Given the description of an element on the screen output the (x, y) to click on. 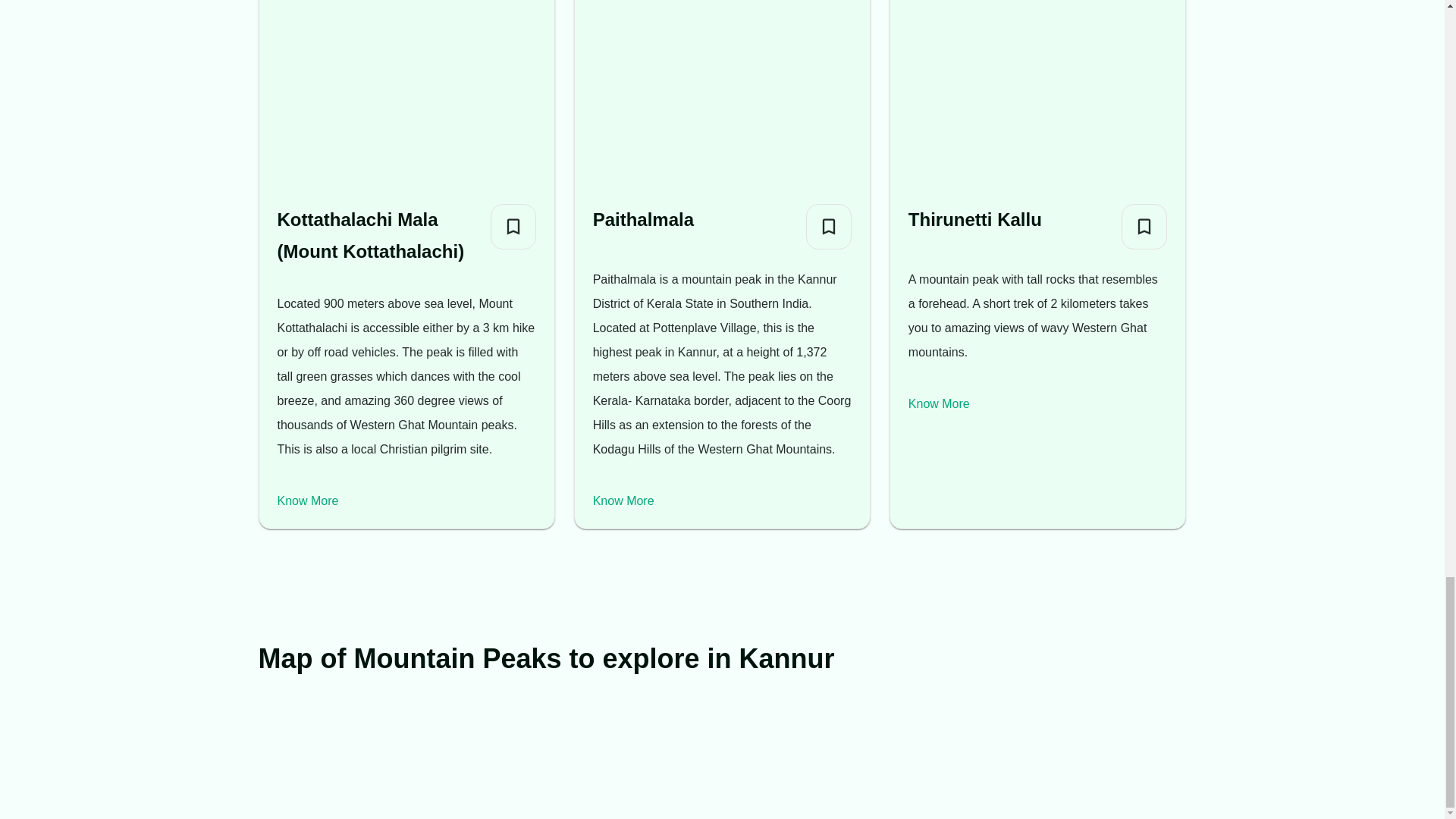
Paithalmala (643, 219)
Know More (308, 500)
Add to Bucket List (1144, 226)
Add to Bucket List (512, 226)
Add to Bucket List (828, 226)
Know More (622, 500)
Thirunetti Kallu (975, 219)
Know More (938, 403)
